Given the description of an element on the screen output the (x, y) to click on. 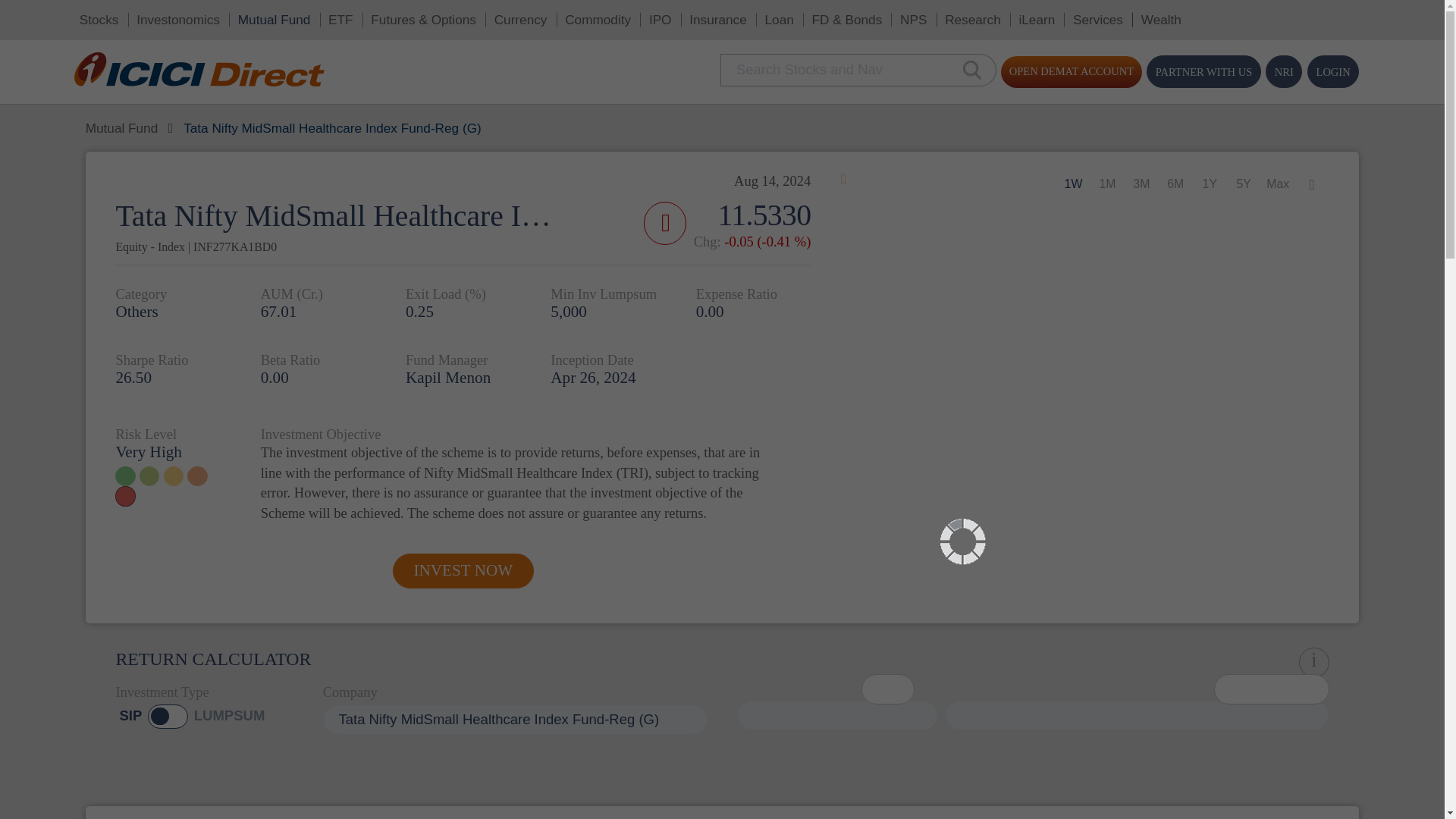
Investonomics (134, 15)
Stocks (74, 15)
Mutual Fund (207, 15)
Currency (393, 15)
ETF (258, 15)
